Given the description of an element on the screen output the (x, y) to click on. 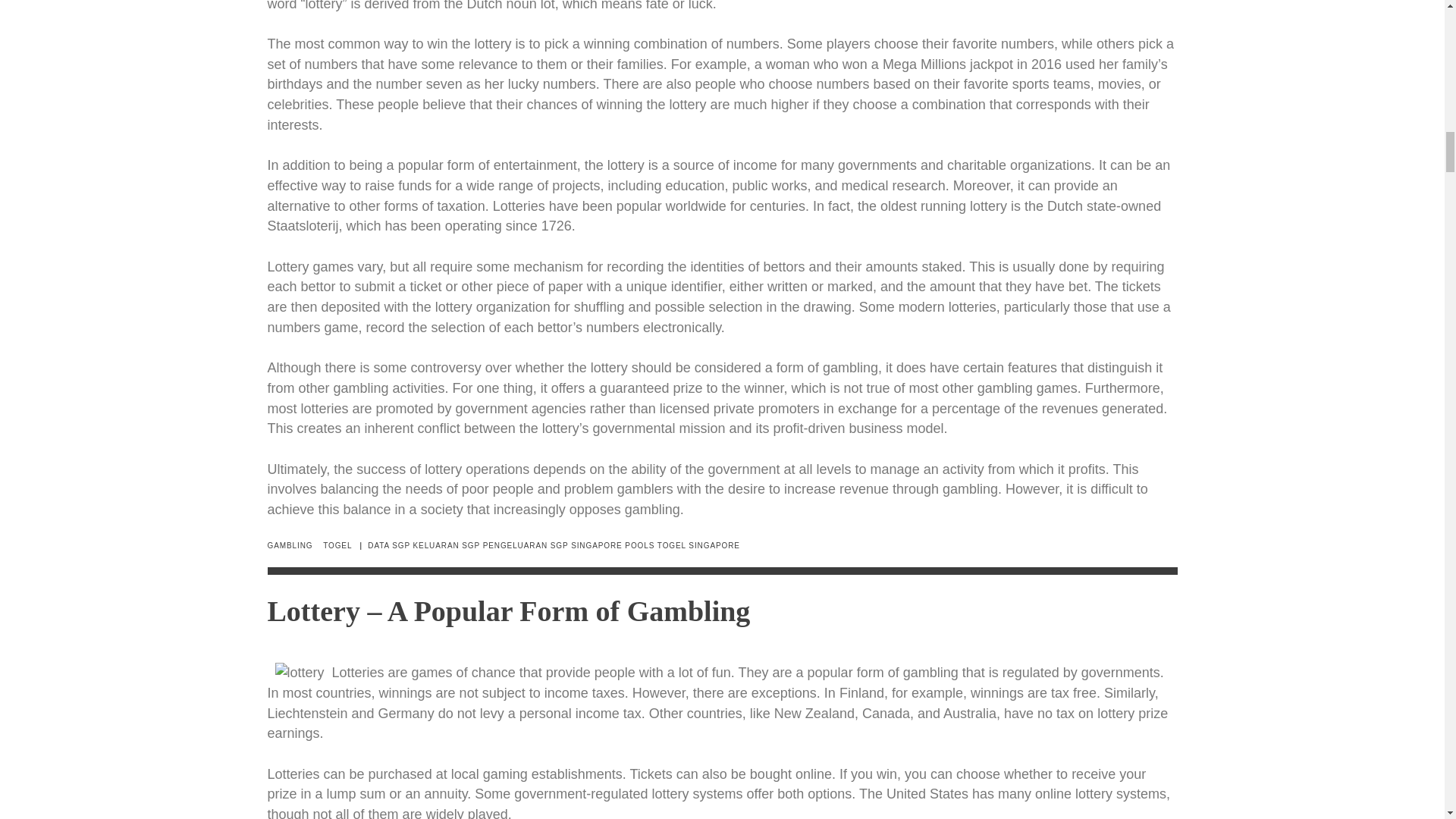
KELUARAN SGP (446, 545)
TOGEL SINGAPORE (698, 545)
PENGELUARAN SGP (526, 545)
DATA SGP (389, 545)
SINGAPORE POOLS (611, 545)
GAMBLING (289, 545)
TOGEL (337, 545)
